Given the description of an element on the screen output the (x, y) to click on. 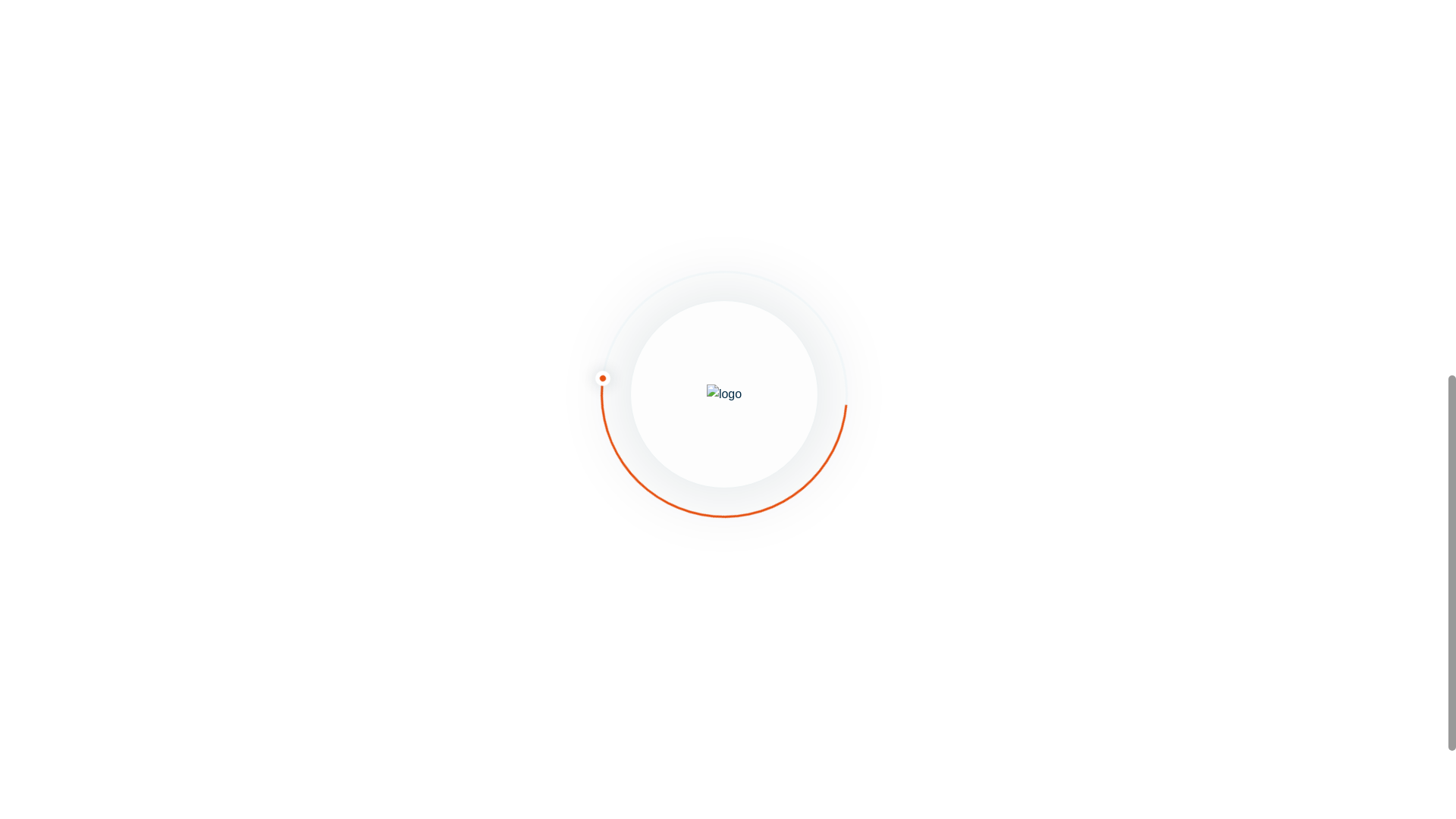
Subscribe (329, 481)
Linkedin (1041, 597)
Instagram (1047, 695)
Whitepapers (548, 695)
Subscribe (329, 481)
Blog (520, 646)
Video Library (549, 794)
About Us (536, 597)
Youtube (1040, 646)
Pricing (528, 745)
Know Your Customer (349, 646)
Syndicated Deals (337, 745)
Features (307, 597)
Resource Utilization (345, 695)
